Given the description of an element on the screen output the (x, y) to click on. 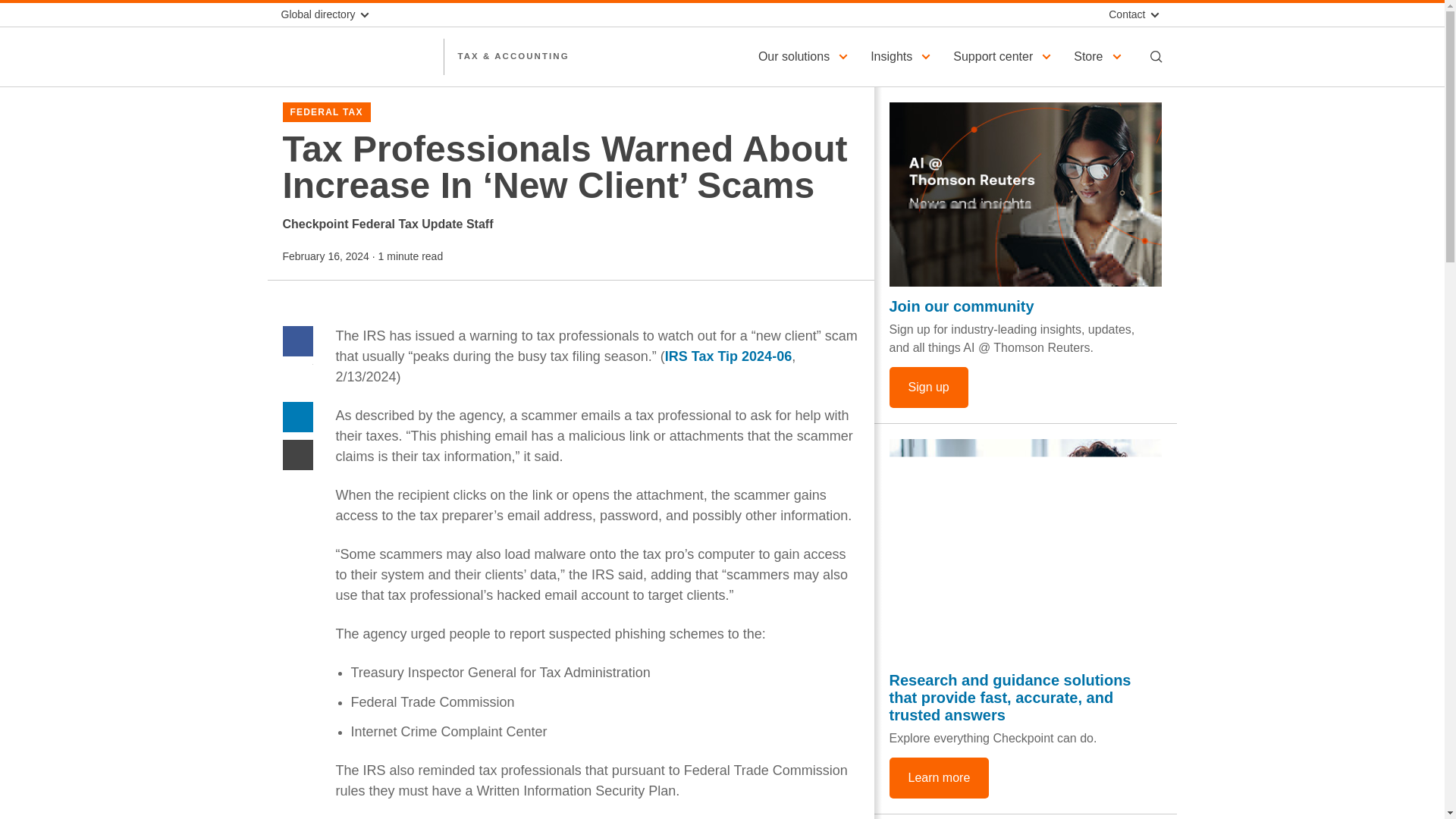
Global directory (331, 14)
Twitter (297, 378)
Thomson Reuters (355, 56)
Facebook (297, 340)
February 16, 2024 (325, 256)
Contact (1131, 14)
Email (297, 454)
Our solutions (805, 56)
Linkedin (297, 416)
Good job (1024, 549)
